Given the description of an element on the screen output the (x, y) to click on. 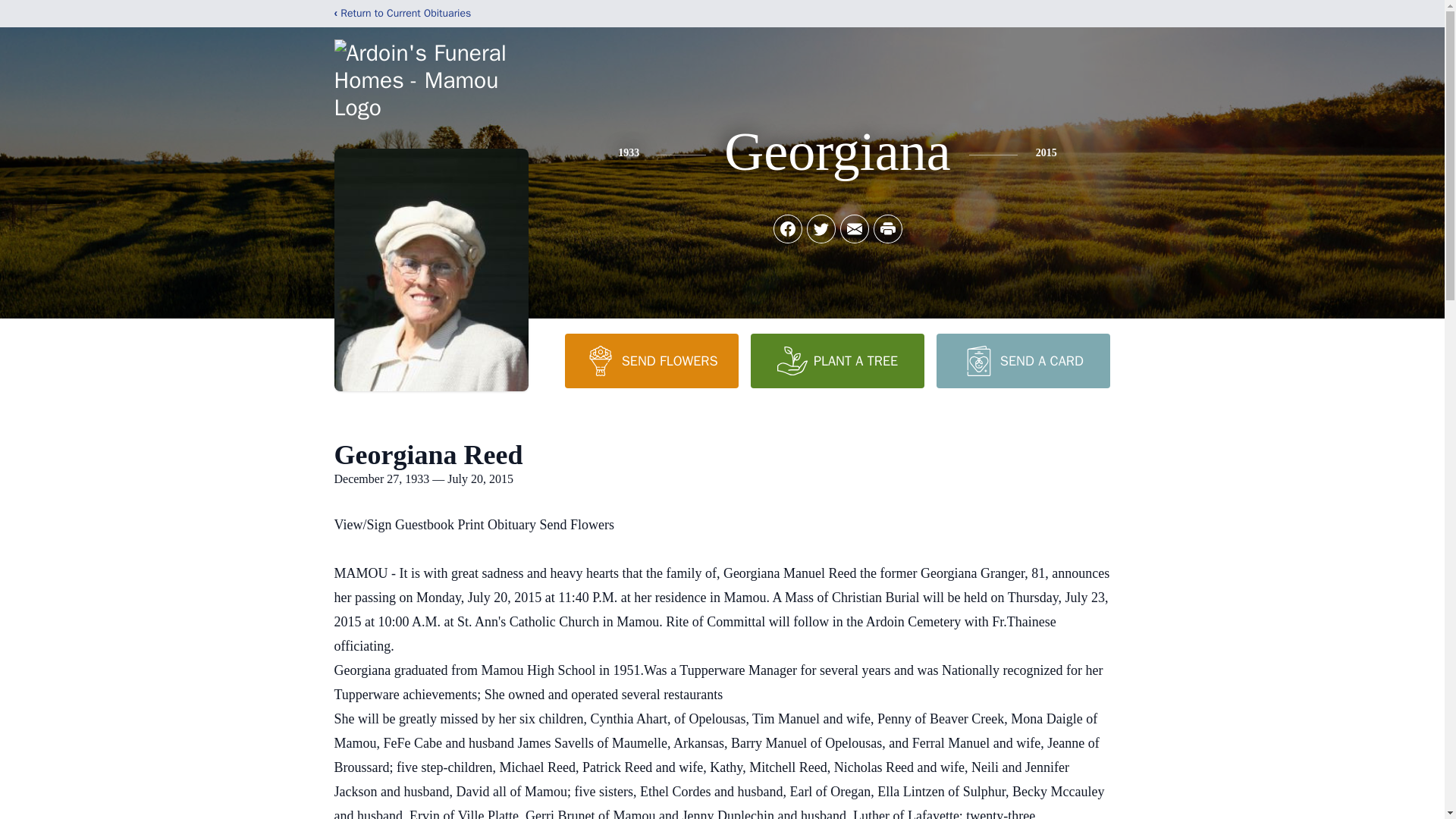
SEND A CARD (1022, 360)
SEND FLOWERS (651, 360)
PLANT A TREE (837, 360)
